Given the description of an element on the screen output the (x, y) to click on. 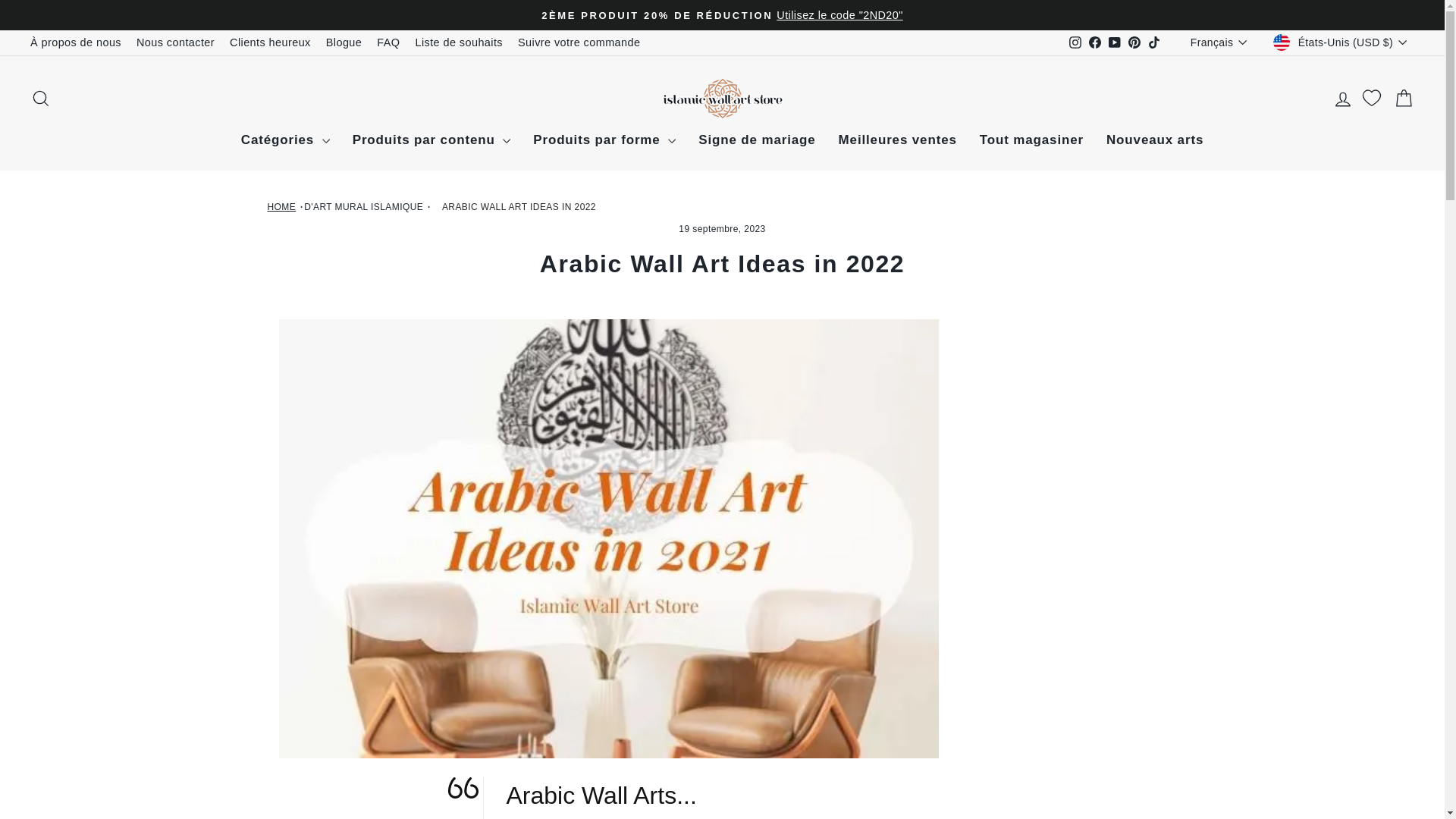
account (1343, 98)
instagram (1074, 42)
icon-search (40, 97)
